Given the description of an element on the screen output the (x, y) to click on. 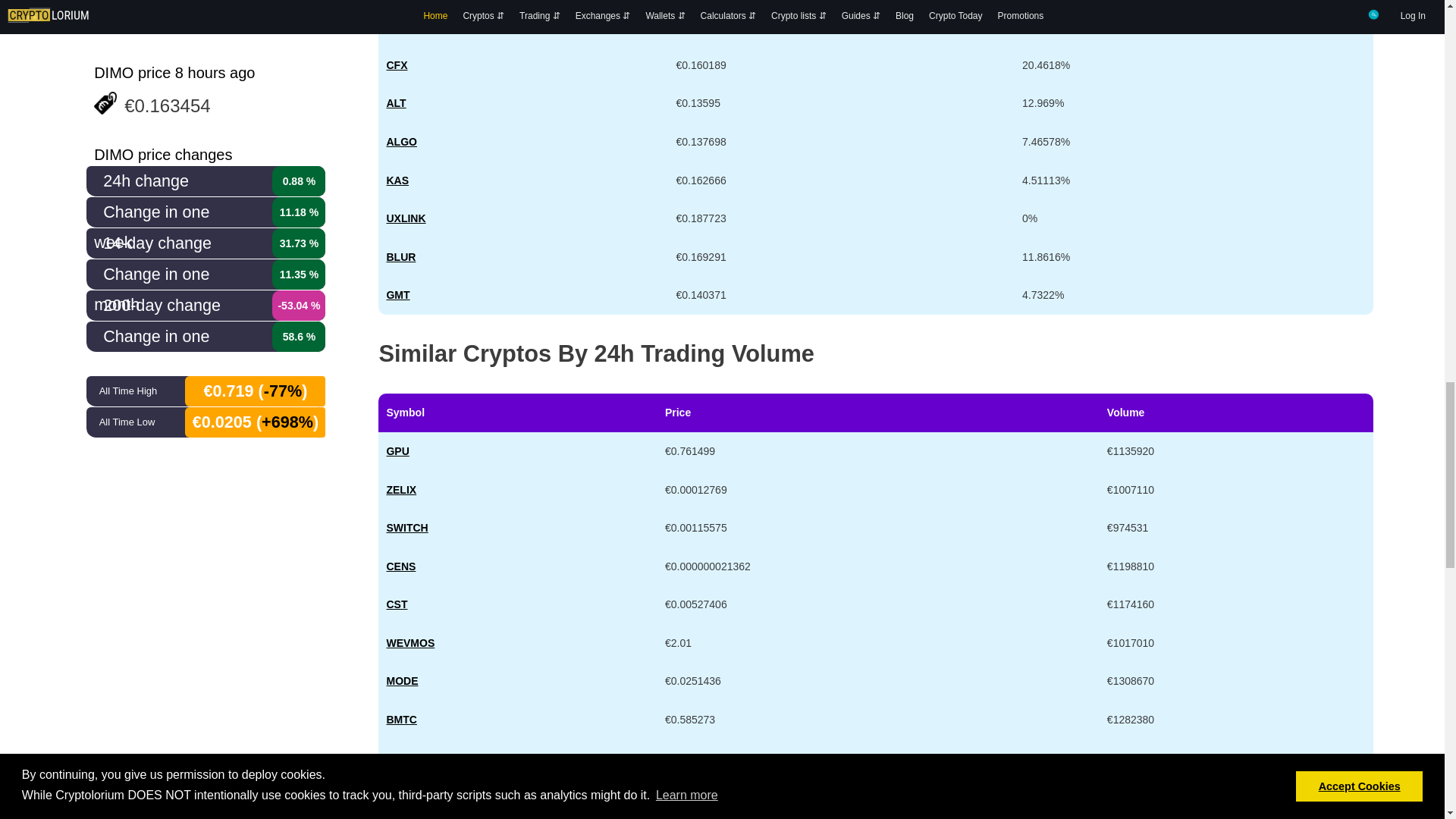
Wrapped Evmos (409, 643)
Metabit Network (400, 719)
Mode (401, 680)
NodeAI (397, 451)
Censored AI (399, 566)
ZELIX (400, 490)
Crypto Samurai (396, 604)
Gems VIP (400, 758)
Switch Token (406, 527)
